Given the description of an element on the screen output the (x, y) to click on. 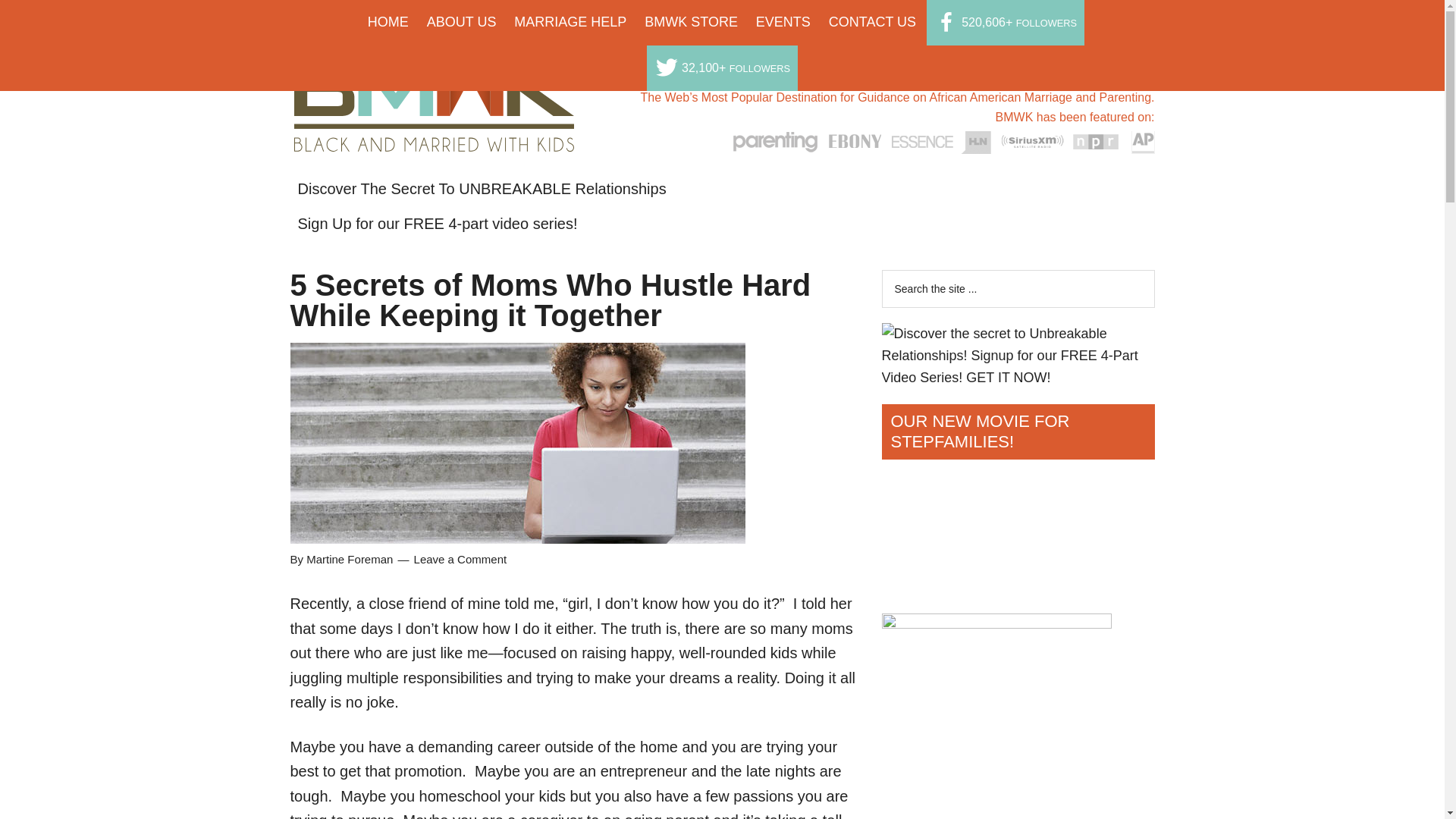
Martine Foreman (349, 558)
CONTACT US (872, 22)
BlackandMarriedWithKids.com (433, 138)
ABOUT US (461, 22)
BMWK STORE (691, 22)
EVENTS (783, 22)
HOME (387, 22)
store (691, 22)
Leave a Comment (459, 558)
MARRIAGE HELP (569, 22)
